Given the description of an element on the screen output the (x, y) to click on. 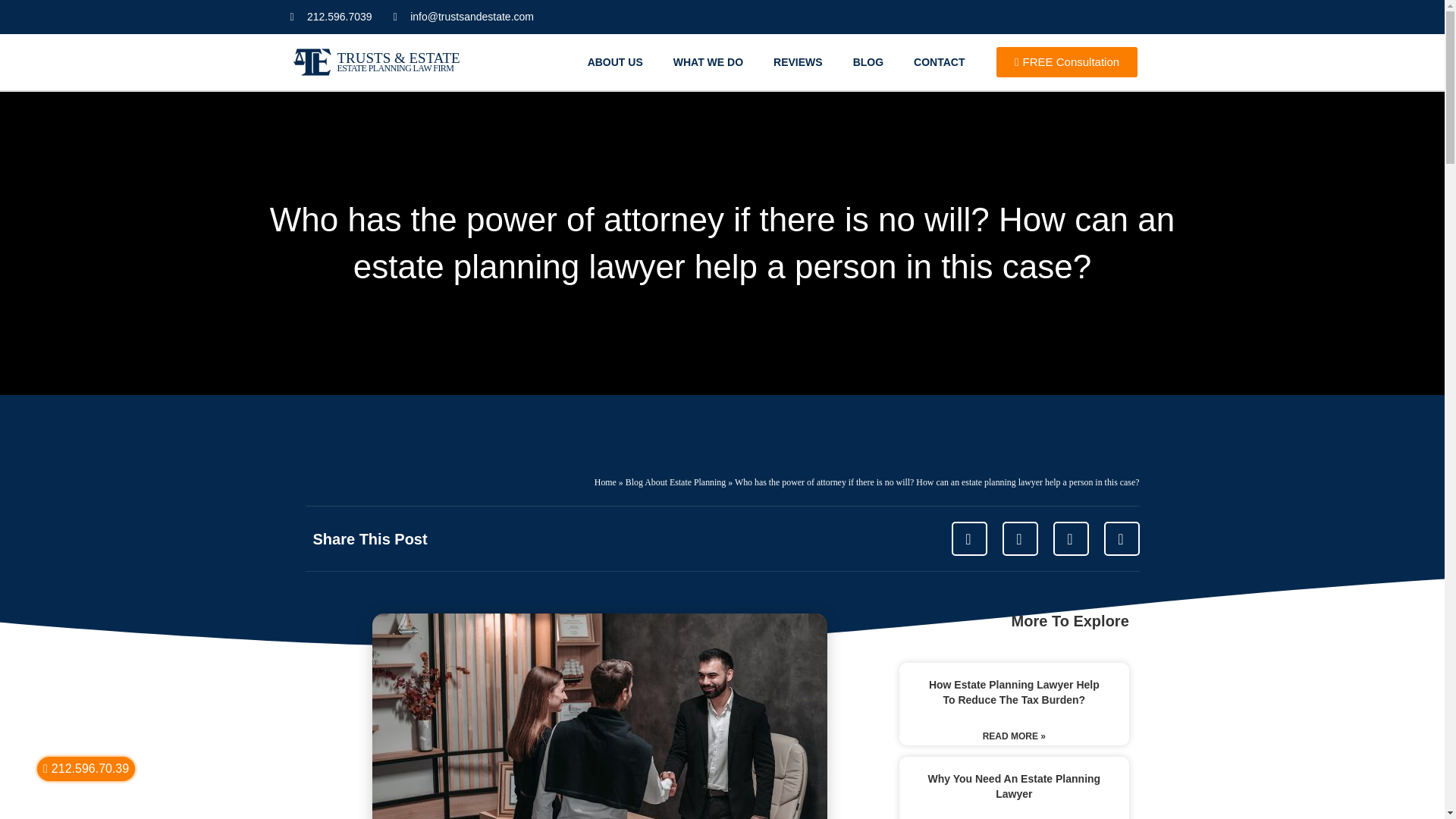
Blog About Estate Planning (675, 481)
WHAT WE DO (708, 61)
CONTACT (938, 61)
ABOUT US (615, 61)
REVIEWS (798, 61)
212.596.70.39 (86, 768)
How Estate Planning Lawyer Help To Reduce The Tax Burden? (1013, 691)
BLOG (868, 61)
FREE Consultation (1066, 61)
Home (604, 481)
